Given the description of an element on the screen output the (x, y) to click on. 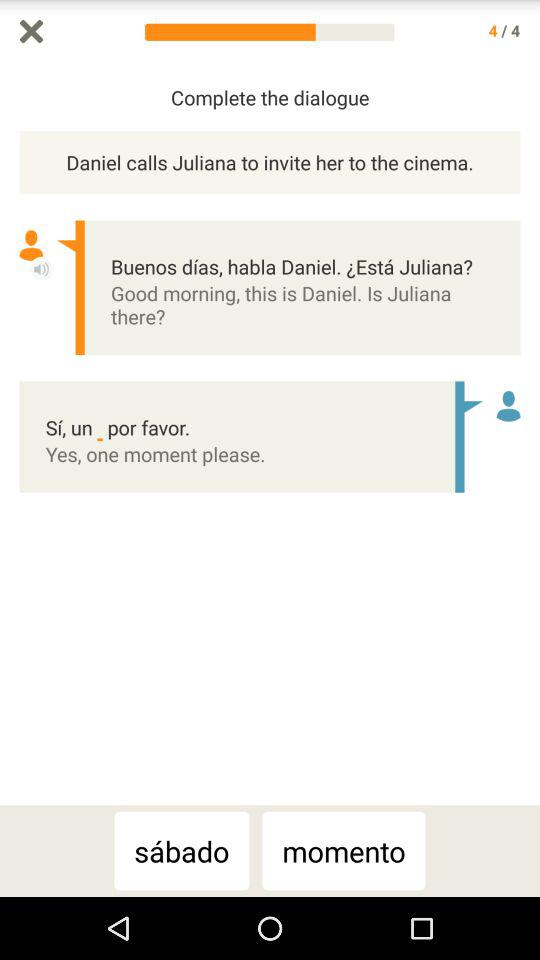
exit page (31, 31)
